Given the description of an element on the screen output the (x, y) to click on. 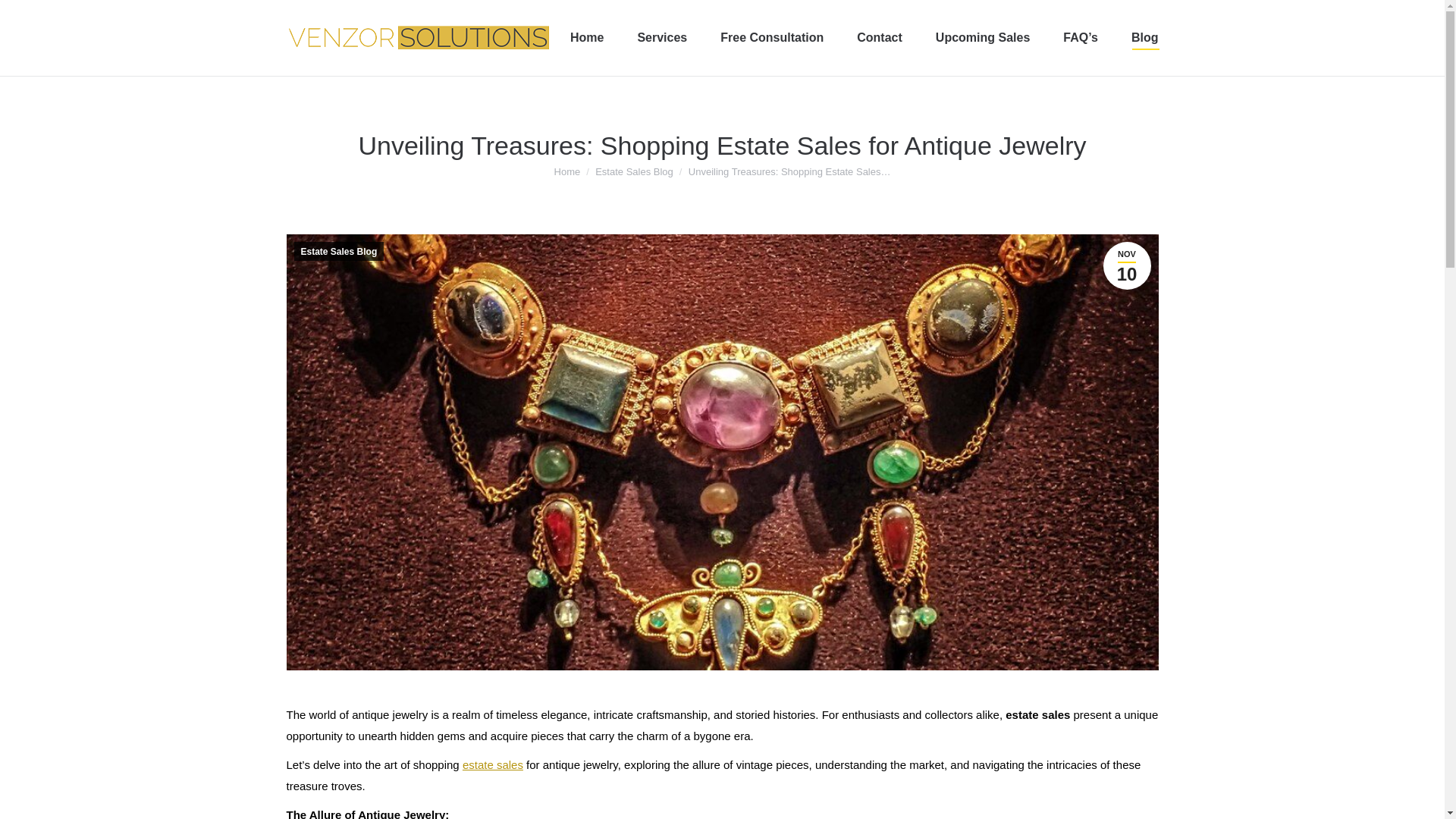
estate sales (492, 764)
Contact (879, 37)
Upcoming Sales (982, 37)
Estate Sales Blog (633, 171)
Home (587, 37)
Estate Sales Blog (633, 171)
Home (567, 171)
Services (662, 37)
